Given the description of an element on the screen output the (x, y) to click on. 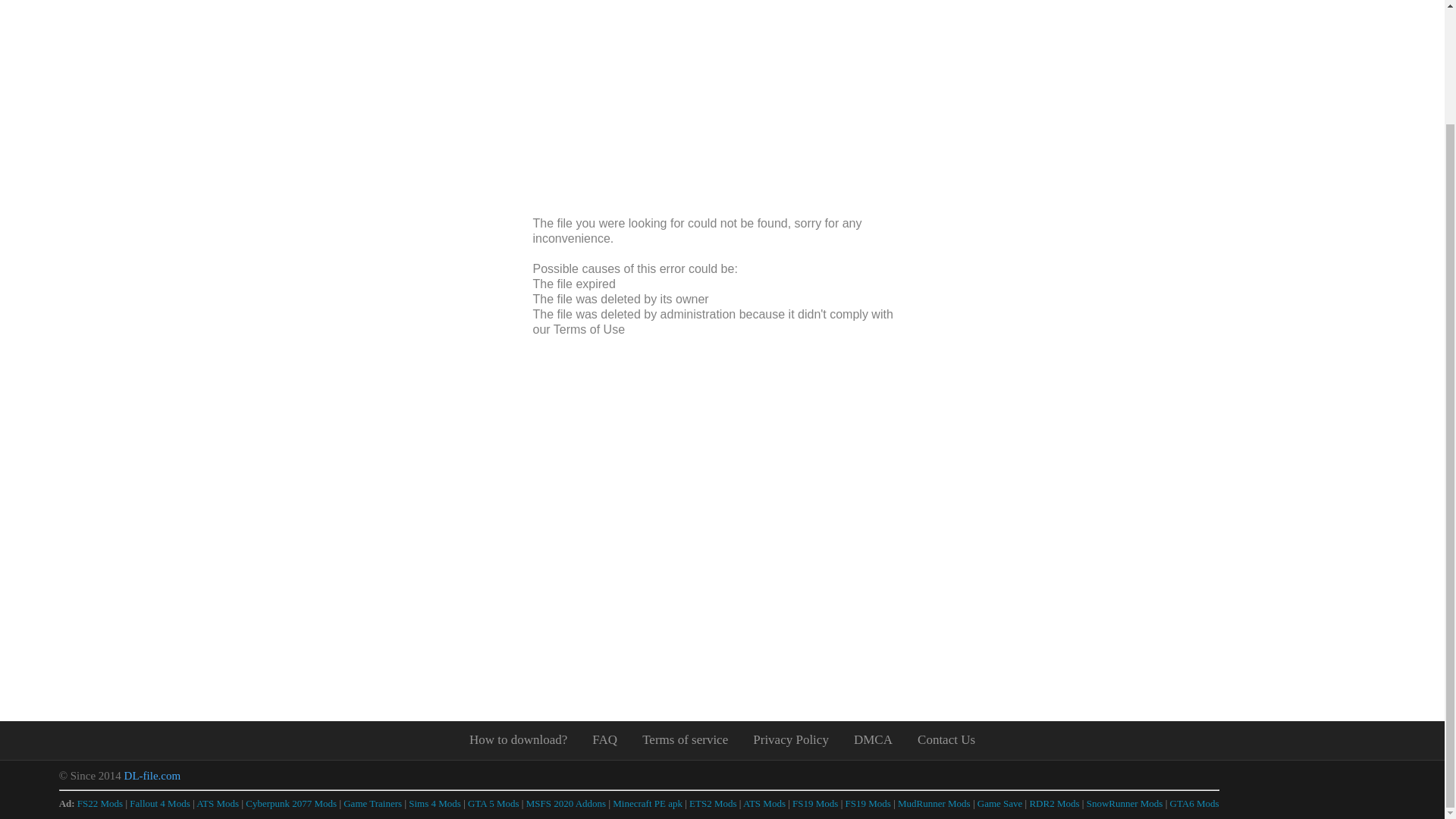
MSFS 2020 Addons (565, 803)
DMCA (873, 739)
Contact Us (946, 739)
Game Trainers (372, 803)
FAQ (604, 739)
Fallout 4 Mods (159, 803)
Privacy Policy (790, 739)
How to download? (518, 739)
Sims 4 Mods (435, 803)
GTA 5 Mods (493, 803)
DL-file.com (151, 775)
ATS Mods (217, 803)
FS22 Mods (99, 803)
Cyberpunk 2077 Mods (291, 803)
